Given the description of an element on the screen output the (x, y) to click on. 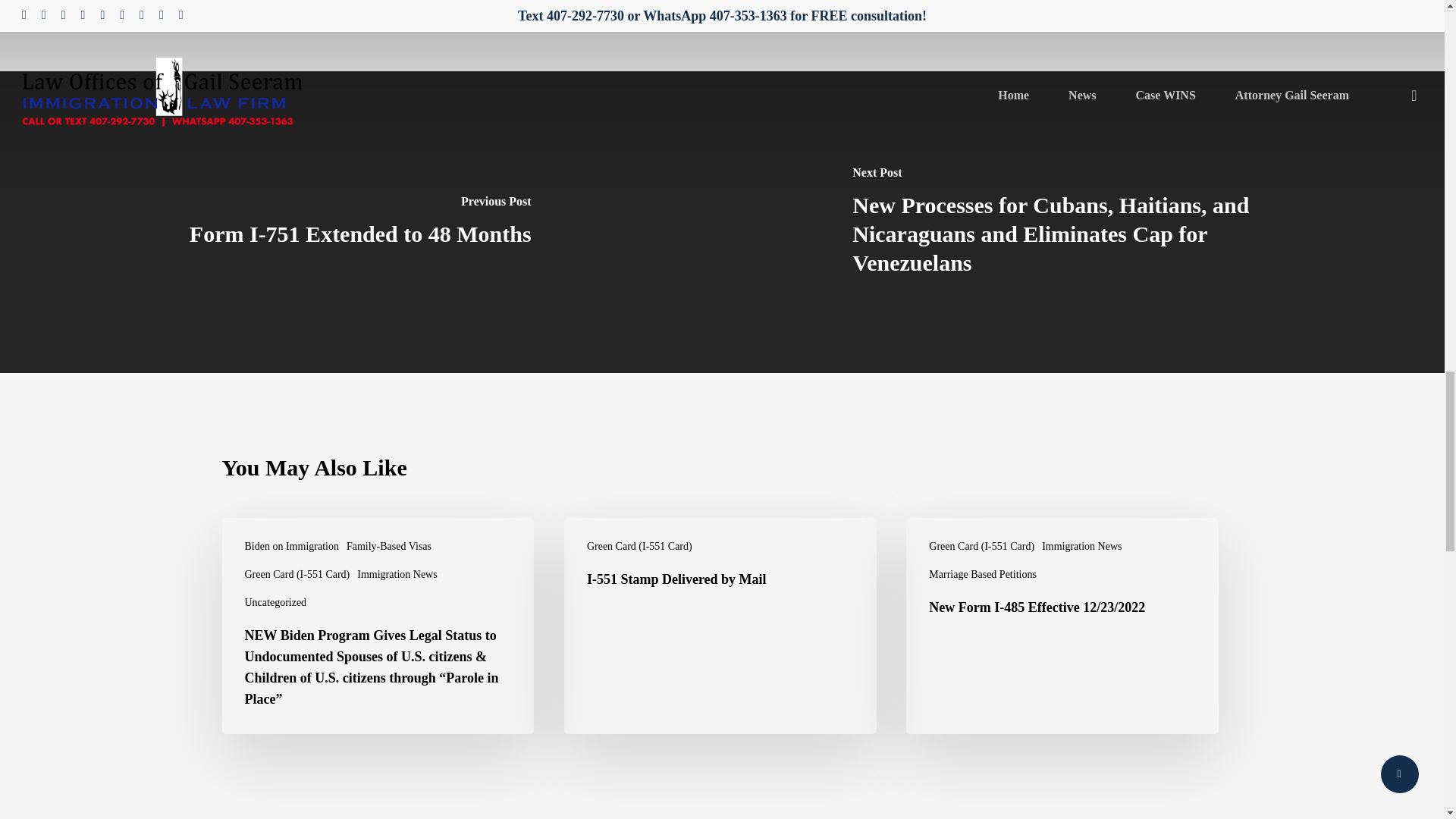
Family-Based Visas (388, 545)
Immigration News (1081, 545)
Immigration News (396, 574)
Uncategorized (274, 602)
Biden on Immigration (290, 545)
